Given the description of an element on the screen output the (x, y) to click on. 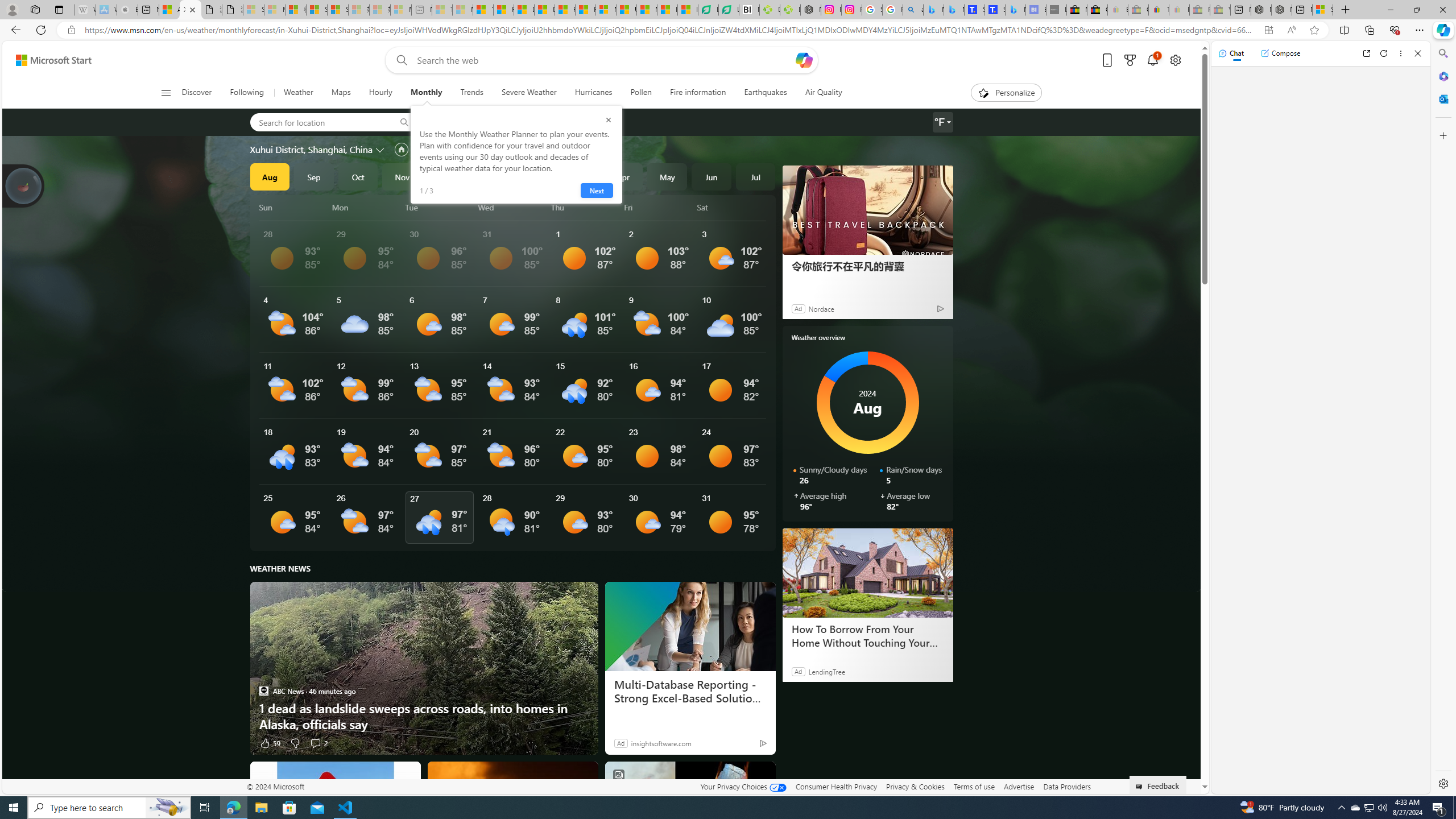
Tue (439, 207)
